Given the description of an element on the screen output the (x, y) to click on. 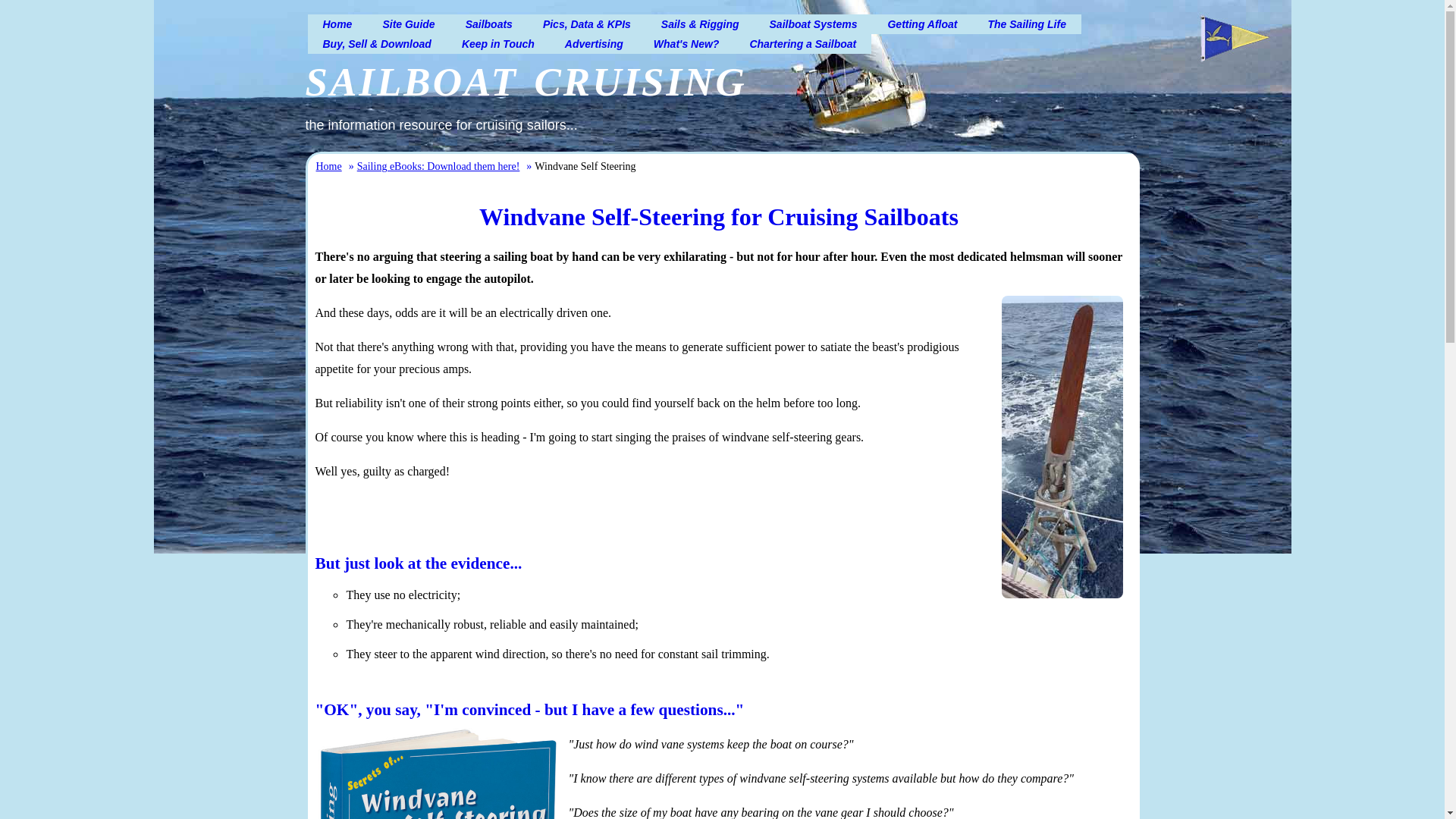
eBook: Windvane Self-Steering for Sailboats (436, 771)
sailboat cruising (524, 76)
Site Guide (407, 24)
Home (337, 24)
